Given the description of an element on the screen output the (x, y) to click on. 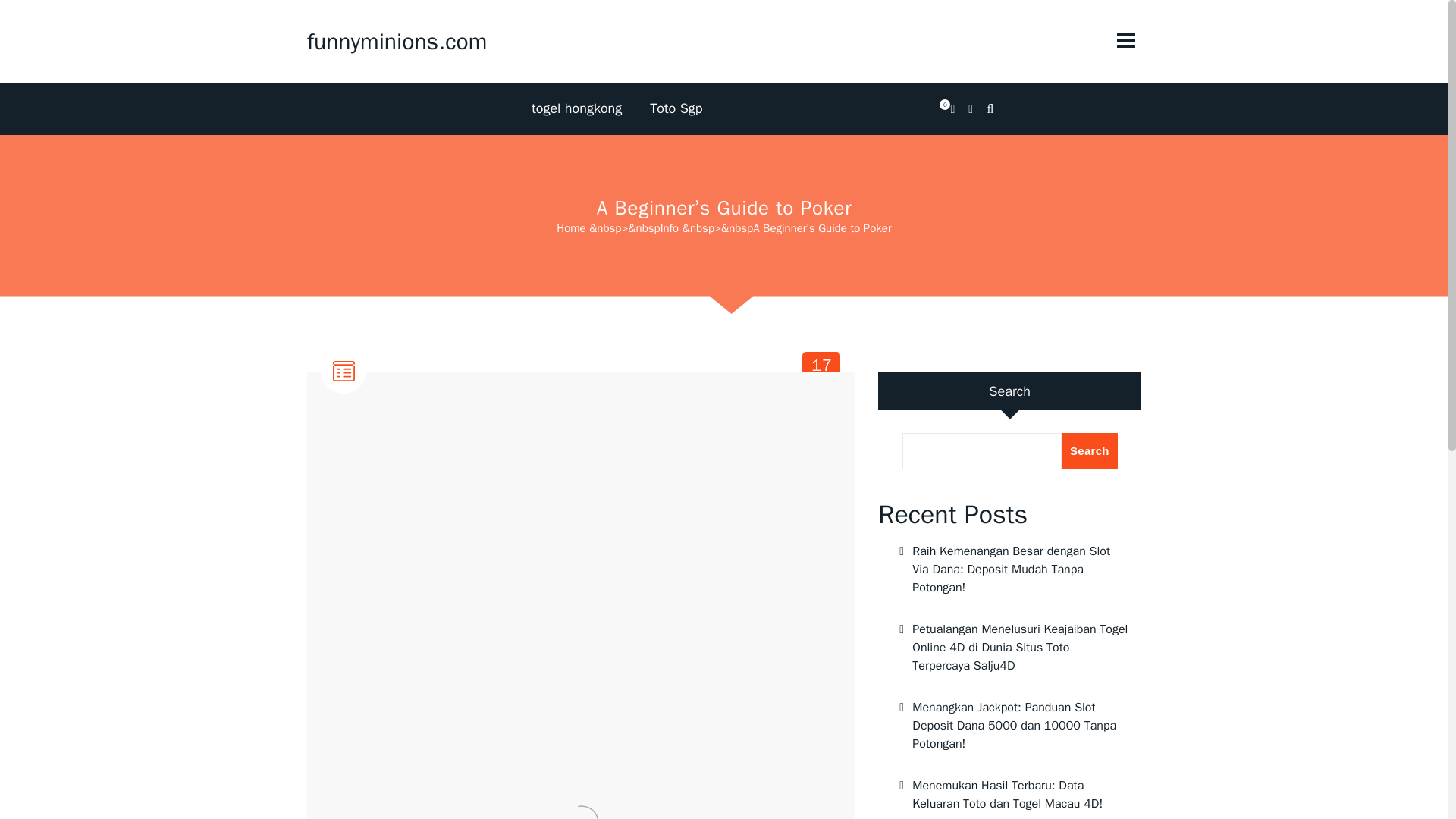
togel hongkong (576, 108)
Info (670, 228)
funnyminions.com (396, 40)
Search (1089, 451)
togel hongkong (576, 108)
0 (952, 109)
Info (343, 410)
Toto Sgp (821, 370)
Home (675, 108)
Toto Sgp (570, 228)
